Given the description of an element on the screen output the (x, y) to click on. 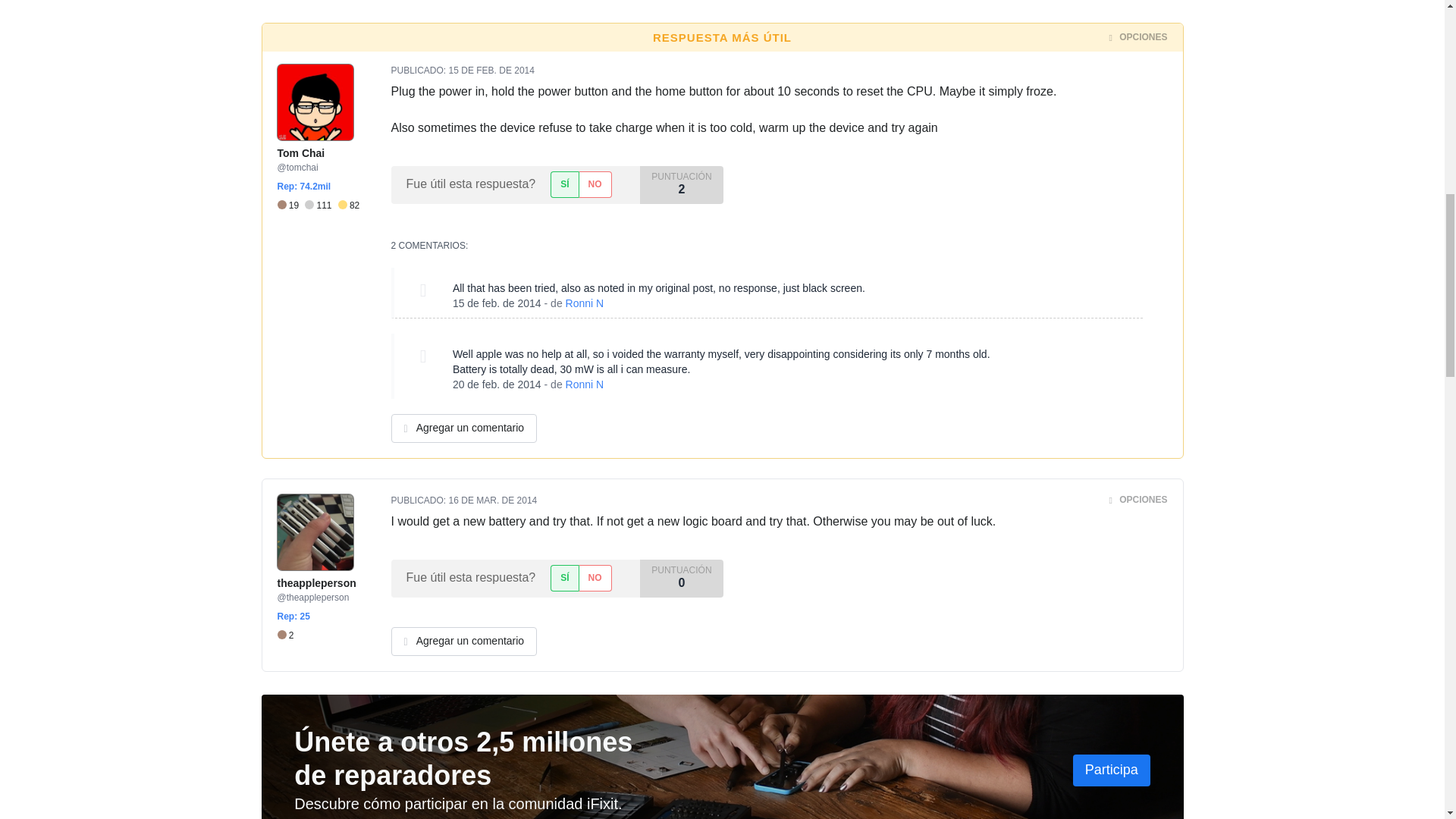
Sun, 16 Mar 2014 12:01:19 -0700 (492, 500)
Thu, 20 Feb 2014 12:49:33 -0700 (496, 384)
82 insignias de Oro (348, 205)
111 insignias de Plata (320, 205)
19 insignias de Bronce (291, 205)
Sat, 15 Feb 2014 09:13:11 -0700 (496, 303)
Sat, 15 Feb 2014 09:10:36 -0700 (491, 70)
2 insignias de Bronce (286, 635)
